Given the description of an element on the screen output the (x, y) to click on. 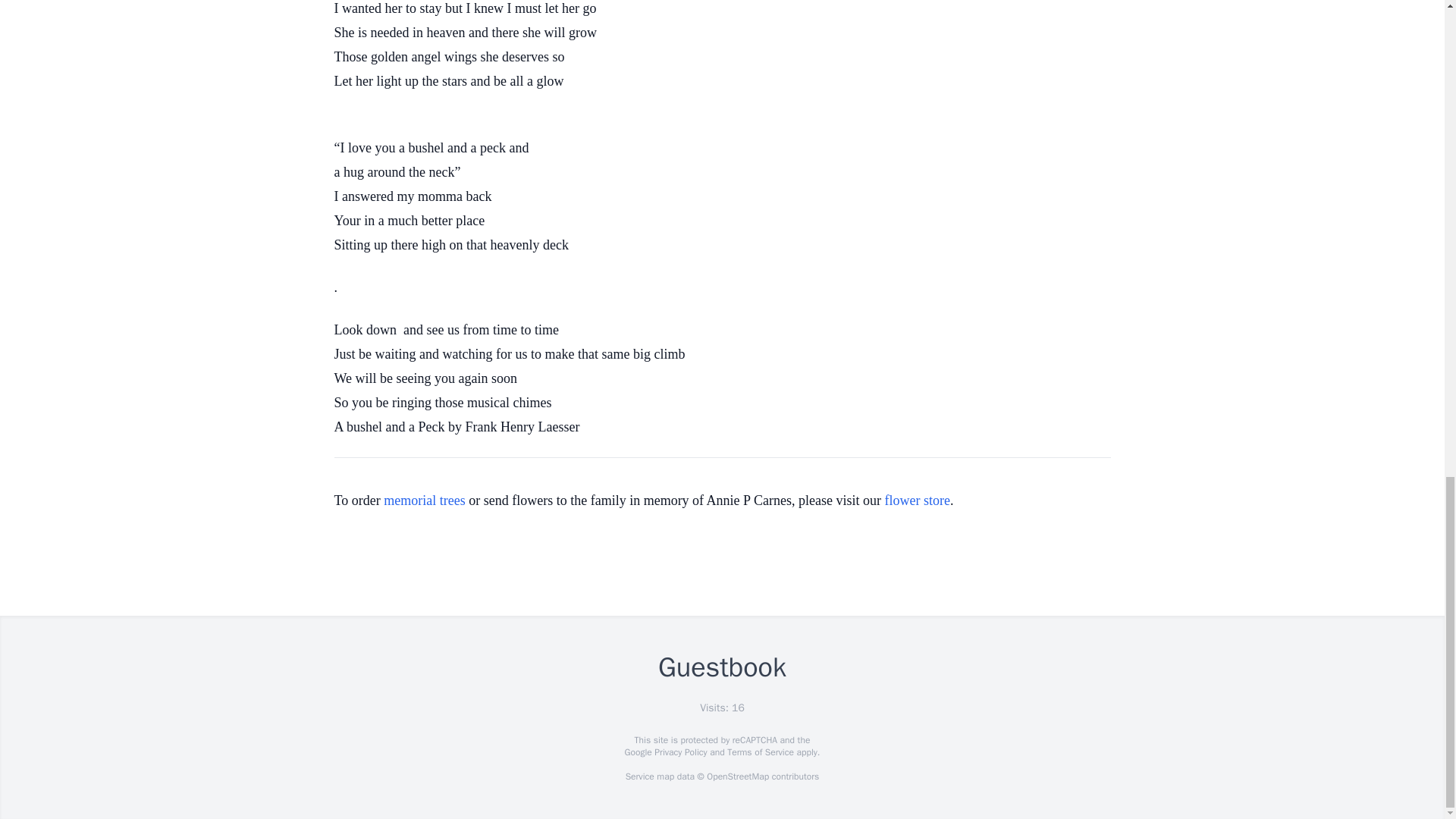
Terms of Service (759, 752)
flower store (916, 500)
OpenStreetMap (737, 776)
memorial trees (424, 500)
Privacy Policy (679, 752)
